Given the description of an element on the screen output the (x, y) to click on. 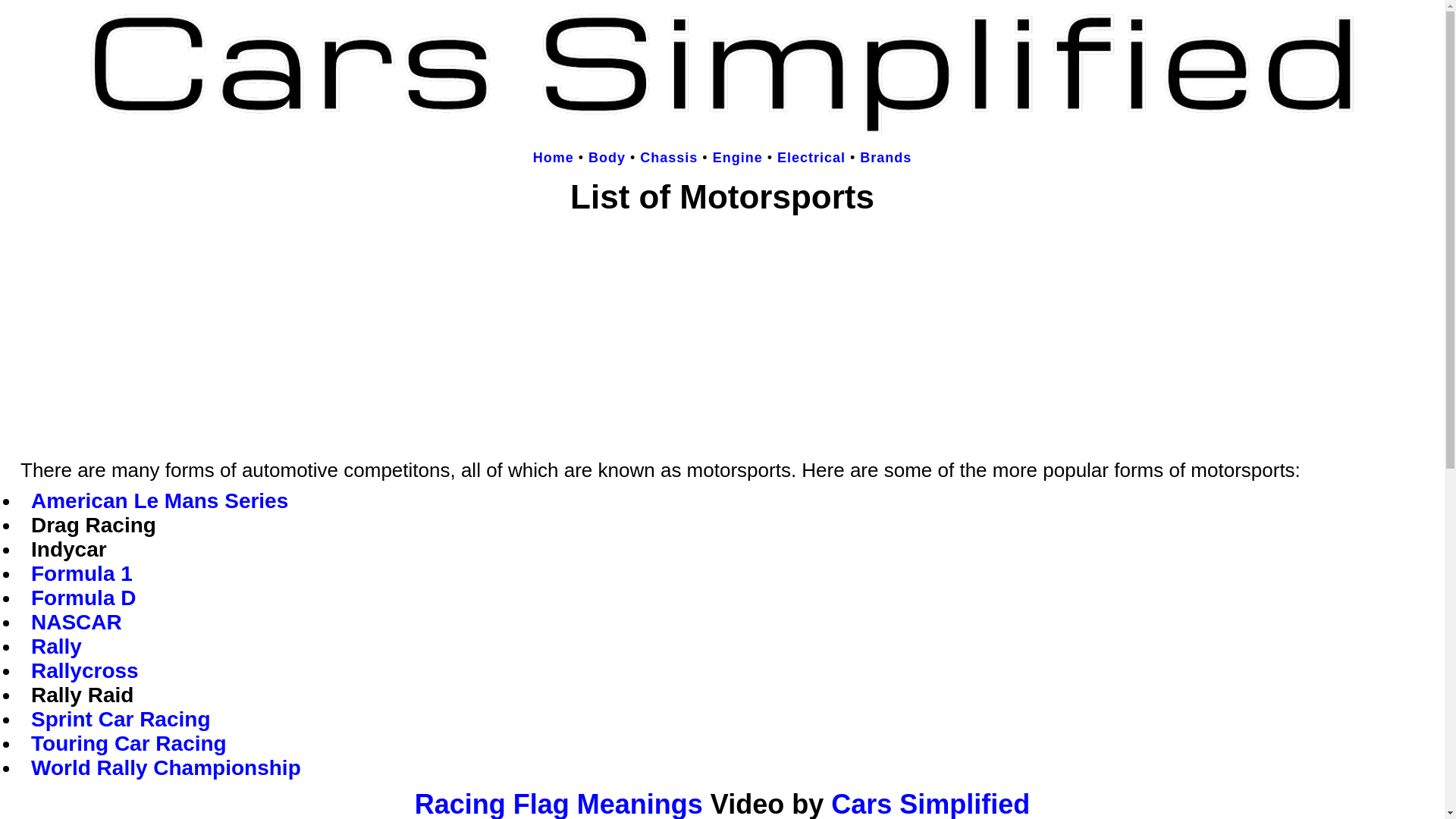
Drag Racing (92, 525)
American Le Mans Series (159, 500)
Brands (885, 157)
F1: Formula 1 (81, 573)
Rally (55, 646)
Indycar (68, 549)
Home (552, 157)
Sprint Car Racing (119, 719)
Electrical (811, 157)
